Given the description of an element on the screen output the (x, y) to click on. 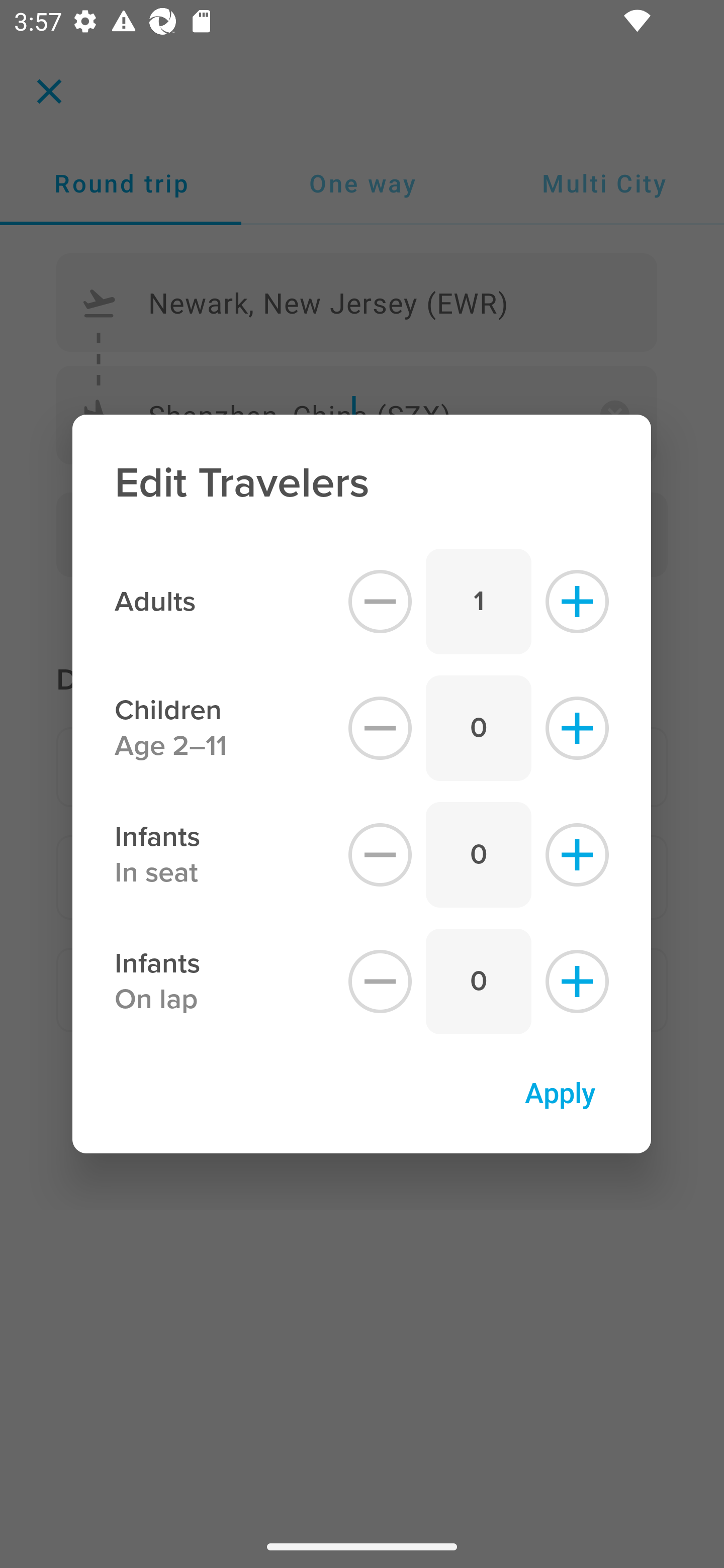
Decrease value (379, 600)
Increase value (576, 600)
Decrease value (379, 727)
Increase value (576, 727)
Decrease value (379, 854)
Increase value (576, 854)
Decrease value (379, 981)
Increase value (576, 981)
Apply (559, 1091)
